Given the description of an element on the screen output the (x, y) to click on. 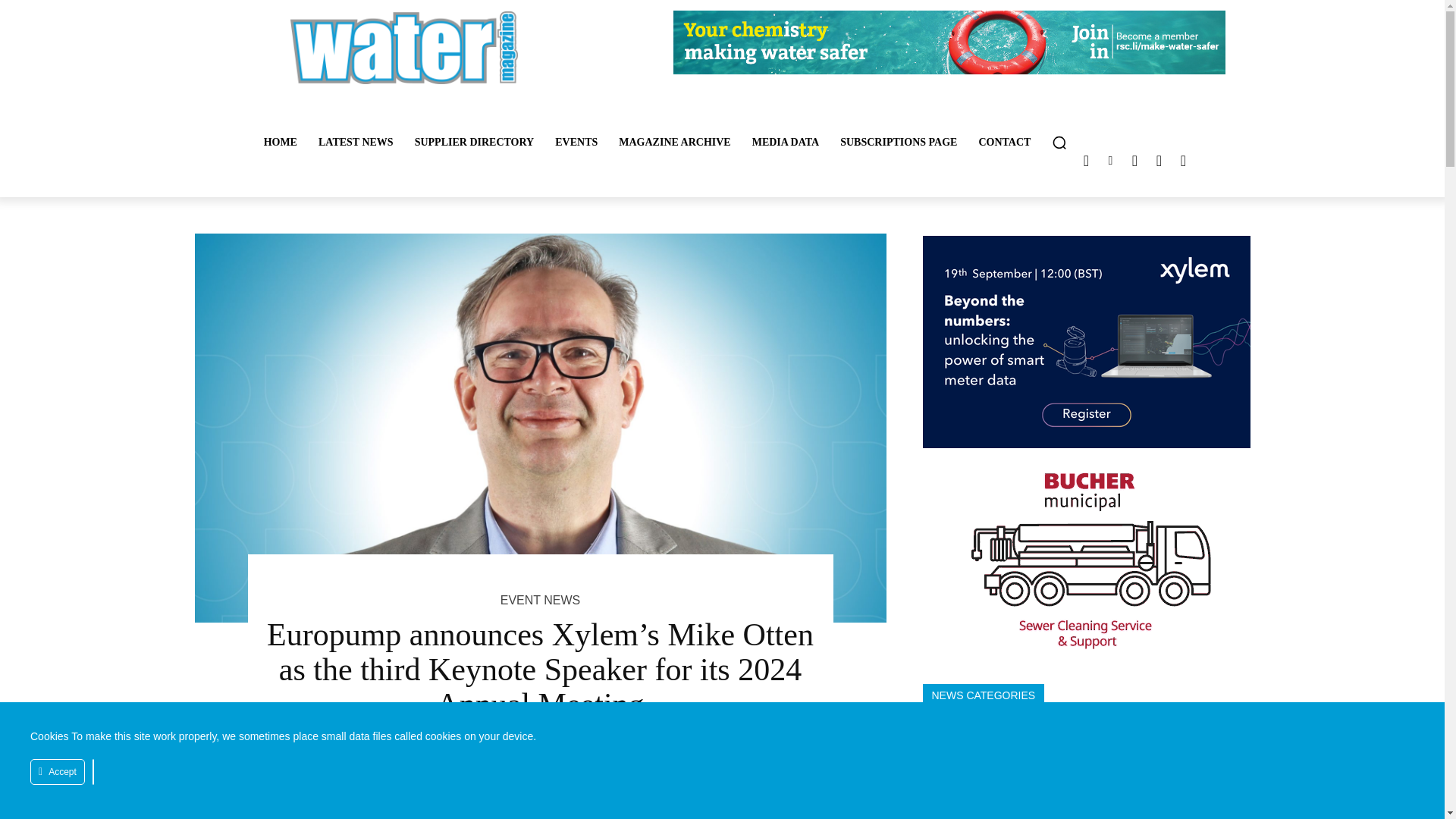
CONTACT (1004, 142)
MAGAZINE ARCHIVE (674, 142)
LATEST NEWS (355, 142)
Twitter (1085, 160)
SUPPLIER DIRECTORY (474, 142)
EVENTS (576, 142)
SUBSCRIPTIONS PAGE (898, 142)
Linkedin (1110, 160)
HOME (280, 142)
Facebook (1158, 160)
